Given the description of an element on the screen output the (x, y) to click on. 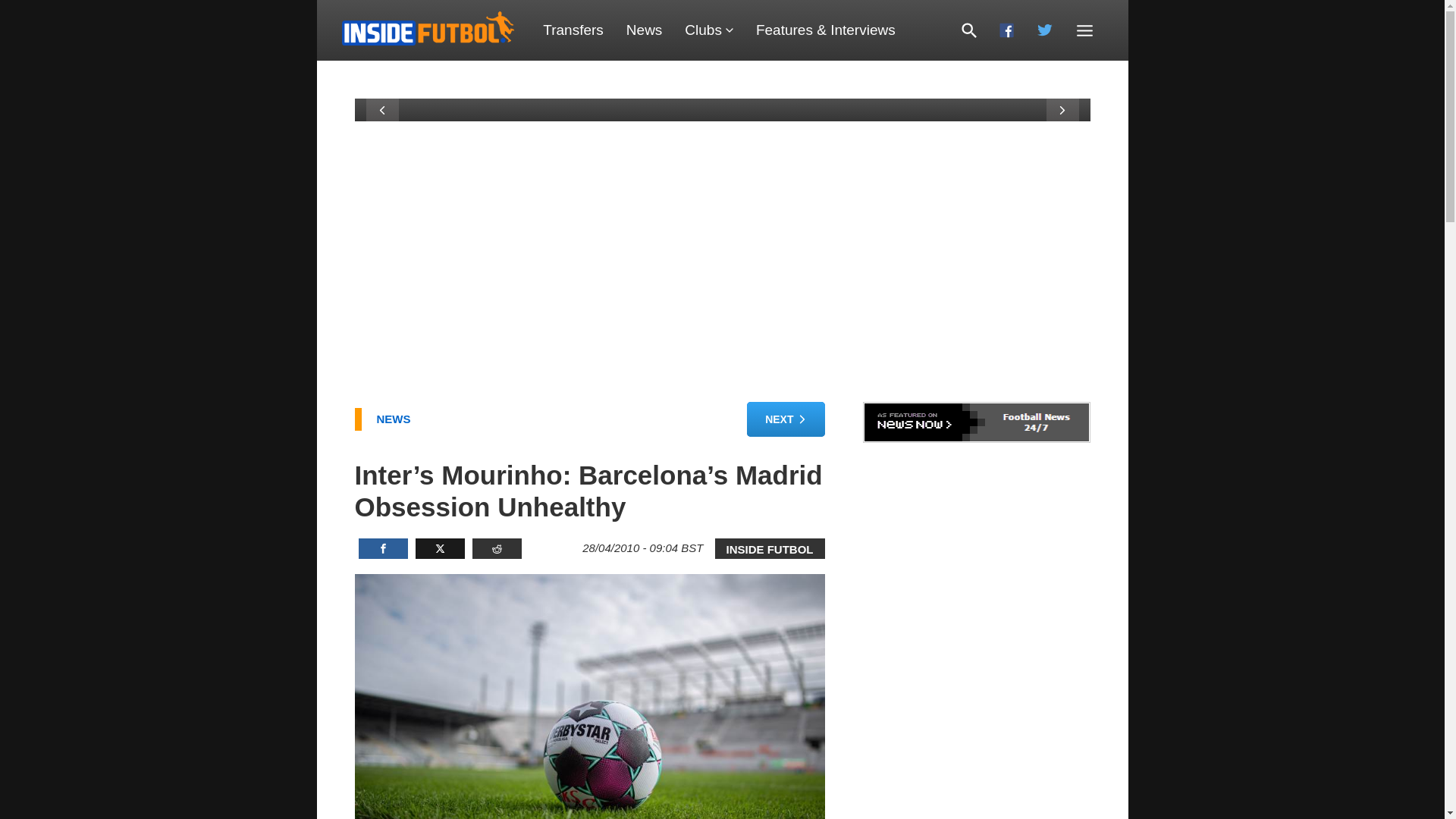
Clubs (708, 30)
Transfers (572, 30)
News (644, 30)
